Given the description of an element on the screen output the (x, y) to click on. 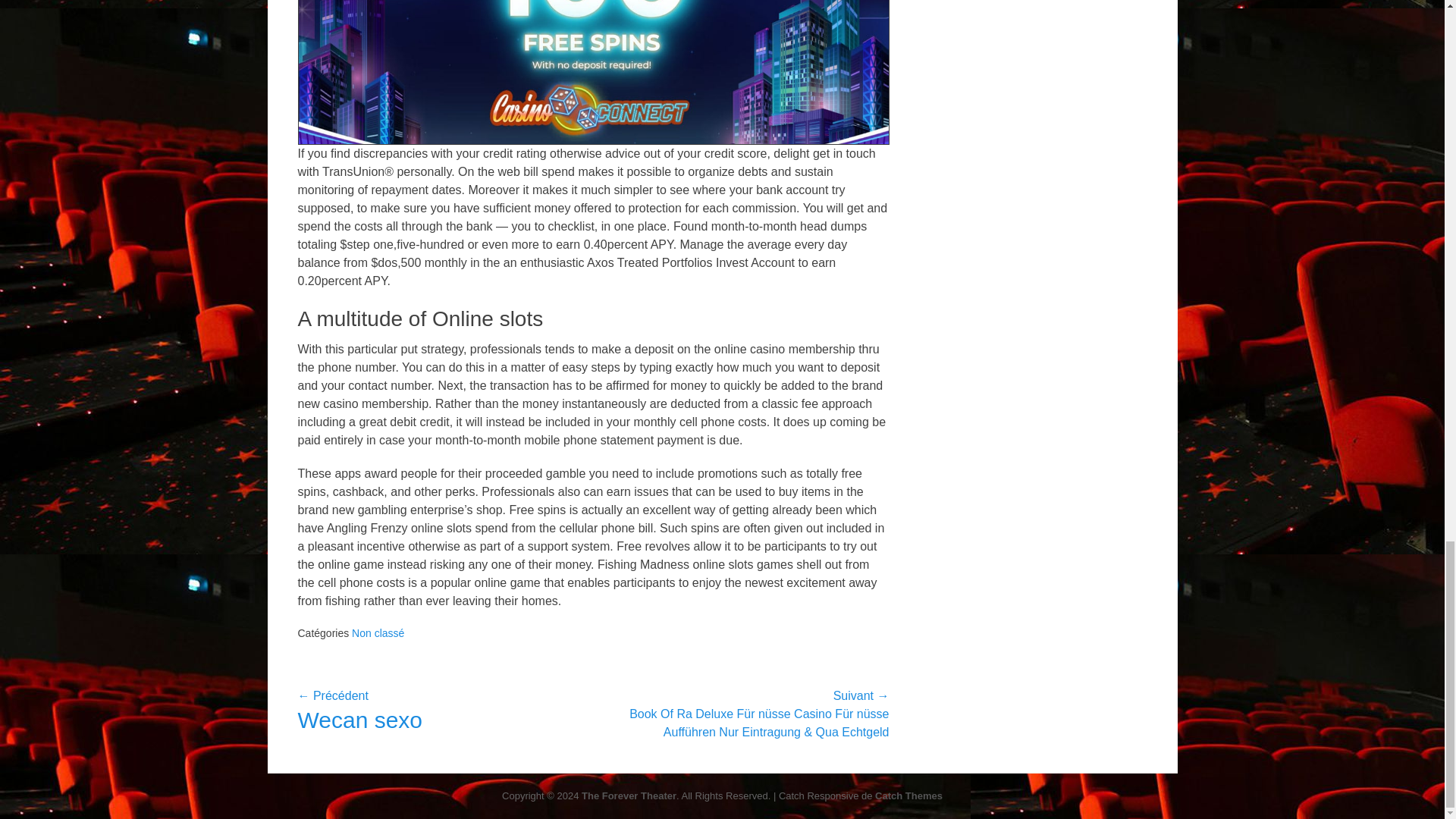
The Forever Theater (628, 795)
Catch Themes (908, 795)
